Given the description of an element on the screen output the (x, y) to click on. 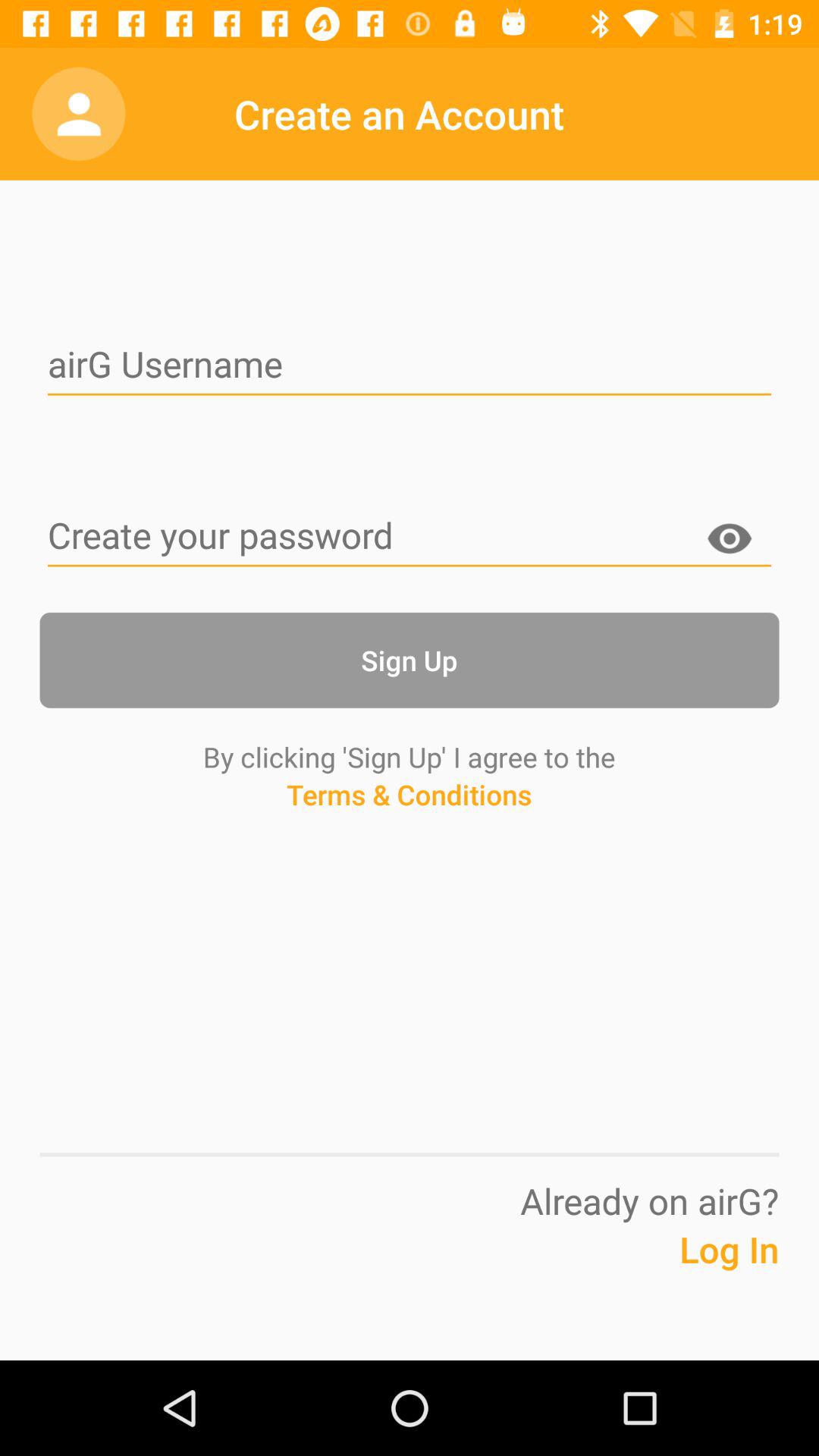
input username (409, 366)
